Given the description of an element on the screen output the (x, y) to click on. 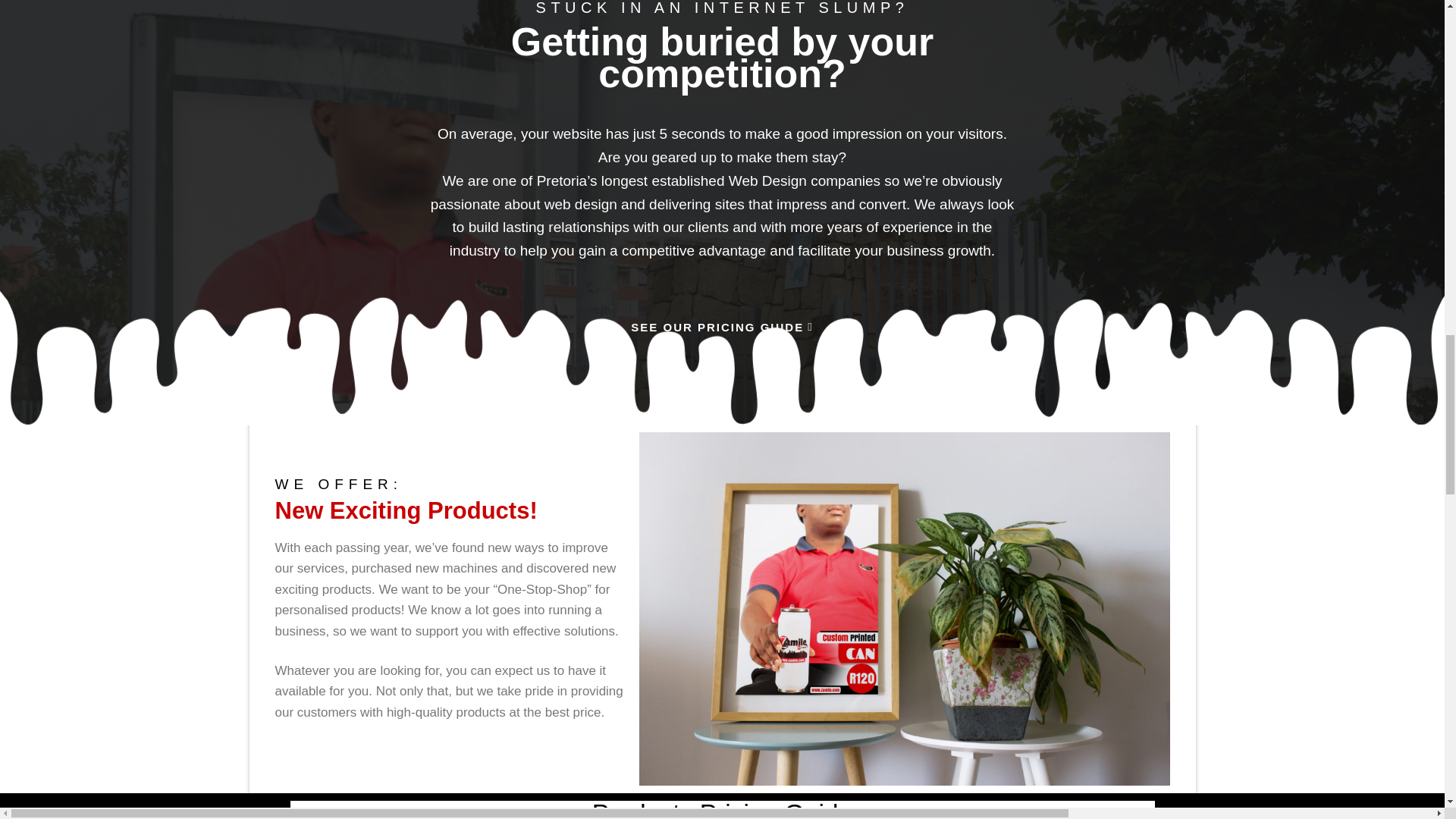
SEE OUR PRICING GUIDE (721, 327)
